Given the description of an element on the screen output the (x, y) to click on. 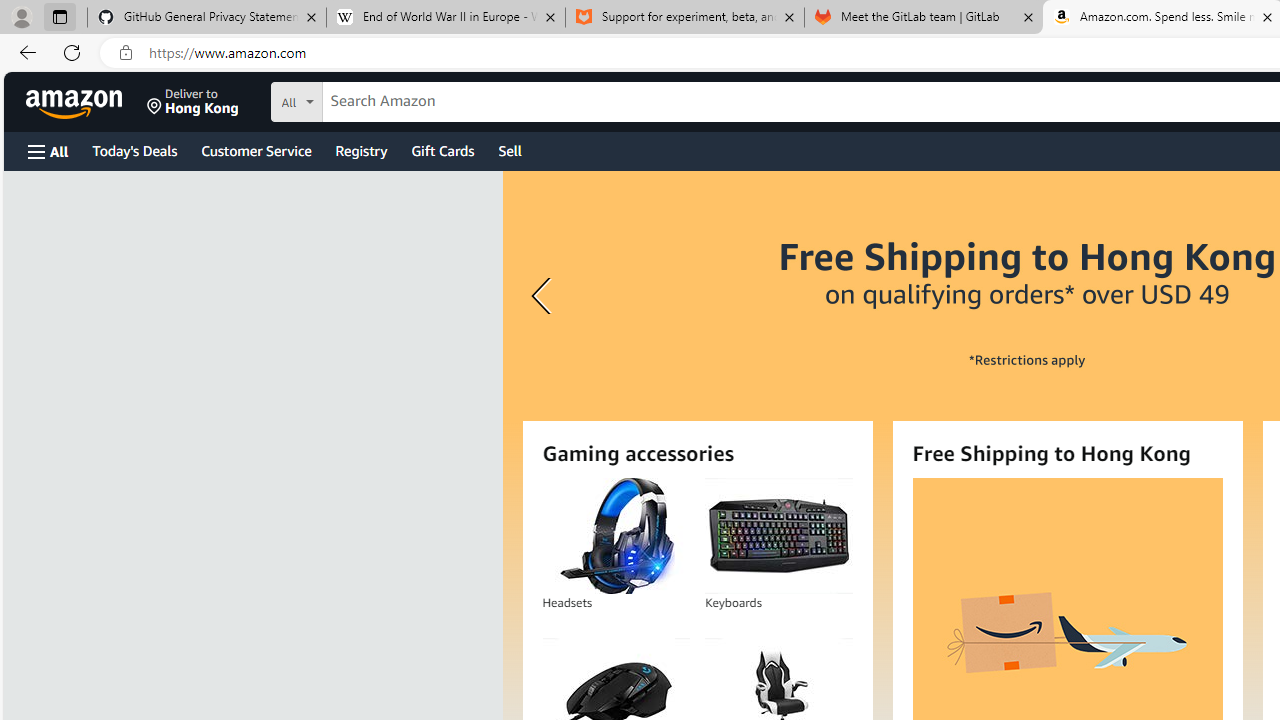
GitHub General Privacy Statement - GitHub Docs (207, 17)
Deliver to Hong Kong (193, 101)
Customer Service (256, 150)
Keyboards (778, 536)
End of World War II in Europe - Wikipedia (445, 17)
Headsets (616, 536)
Sell (509, 150)
Gift Cards (442, 150)
Registry (360, 150)
Today's Deals (134, 150)
Search in (371, 99)
